Given the description of an element on the screen output the (x, y) to click on. 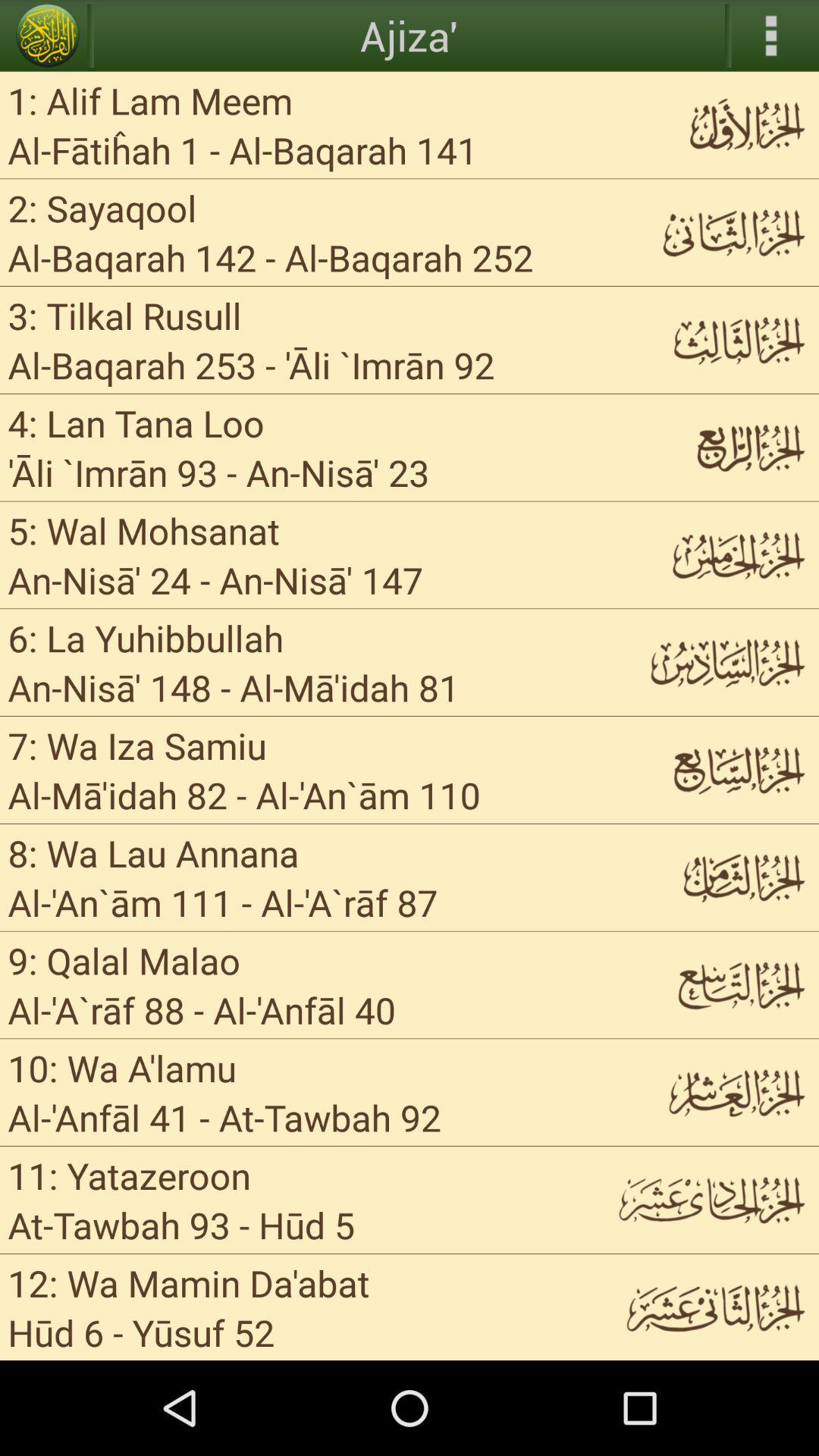
click the app above the at tawbah 93 app (128, 1175)
